Given the description of an element on the screen output the (x, y) to click on. 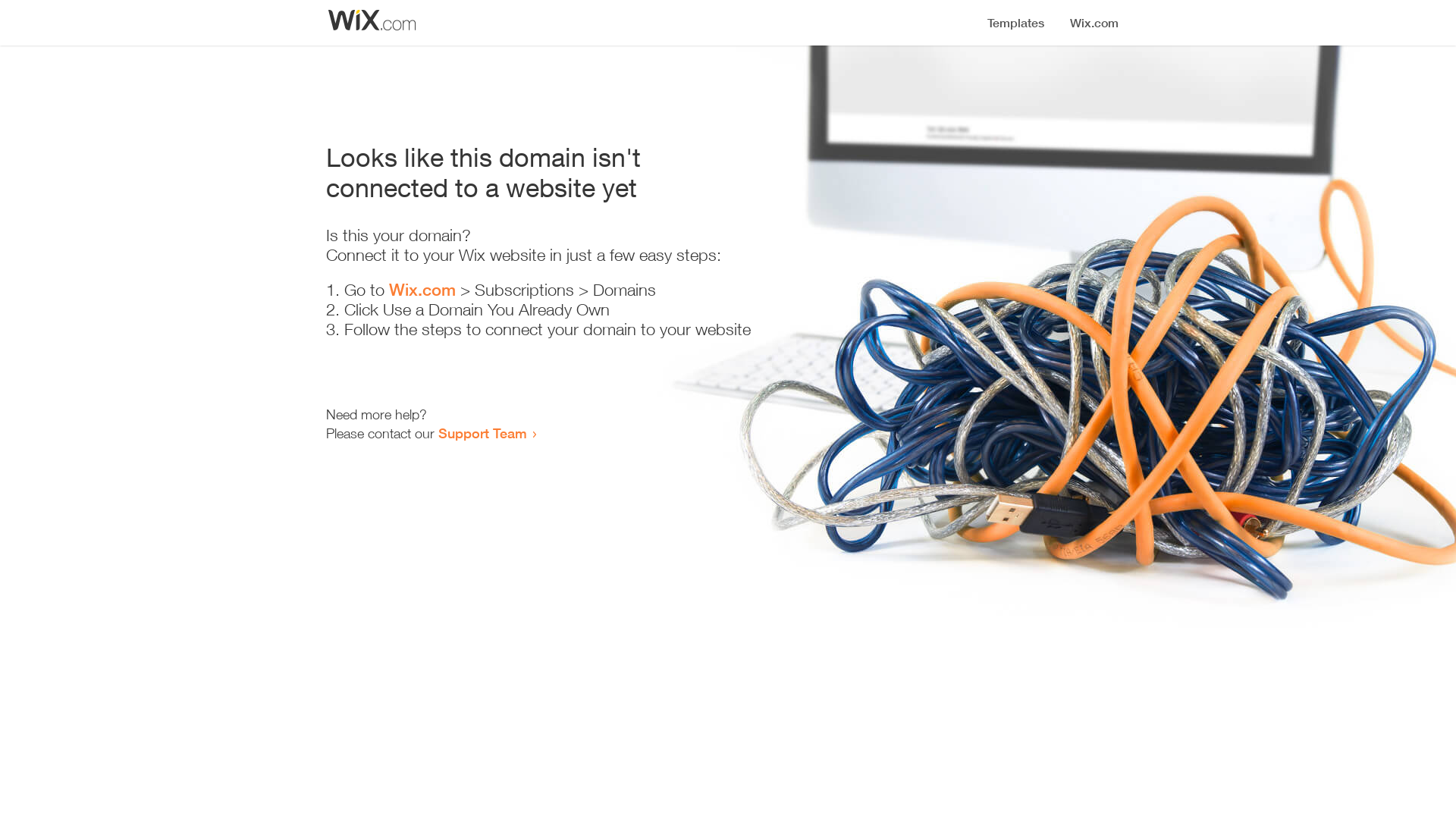
Support Team Element type: text (482, 432)
Wix.com Element type: text (422, 289)
